Given the description of an element on the screen output the (x, y) to click on. 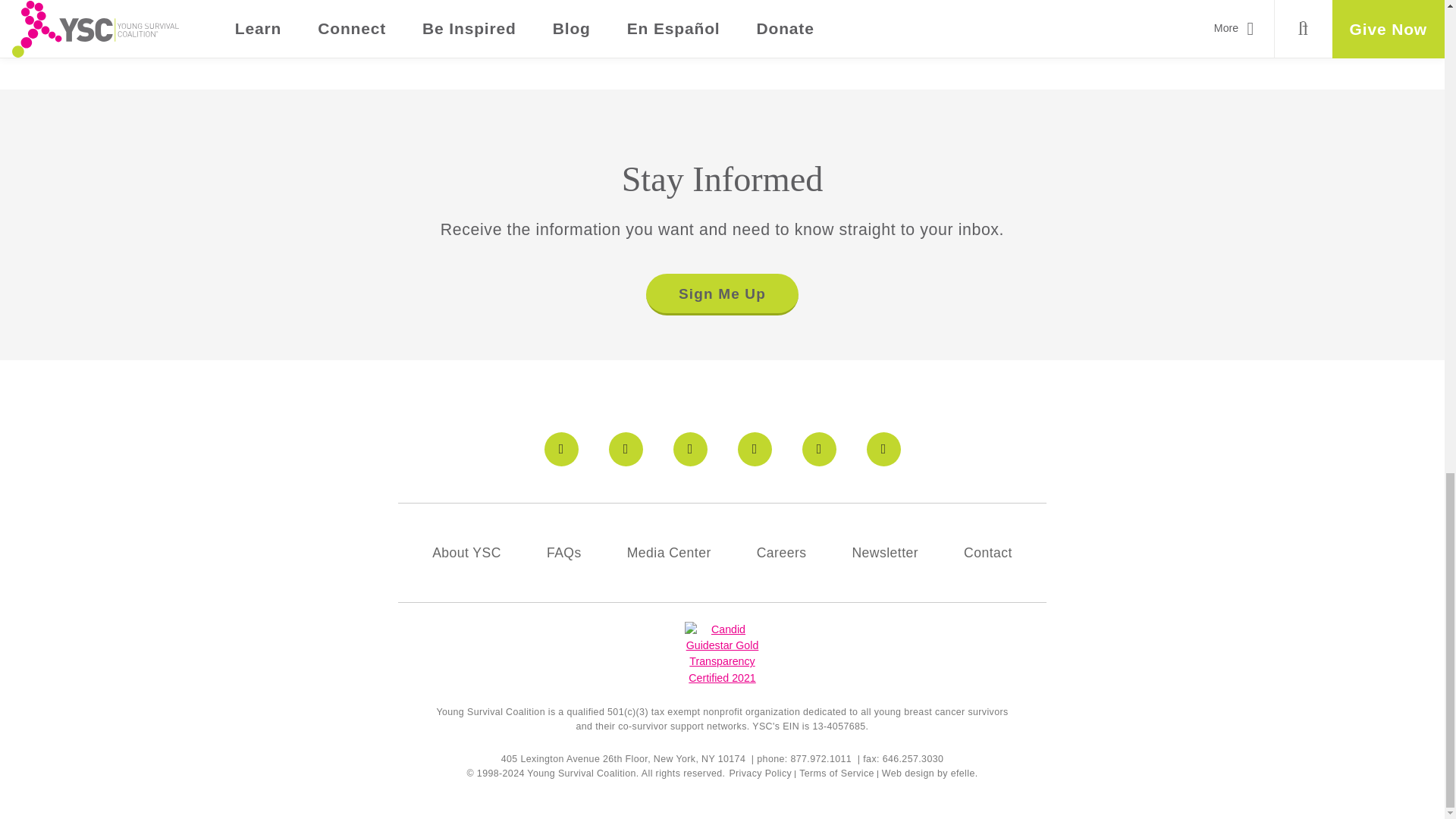
Candid Guidestar Gold Transparency Certified 2021 (721, 653)
Web Design By Efelle (908, 773)
Sign Me Up (721, 294)
